Given the description of an element on the screen output the (x, y) to click on. 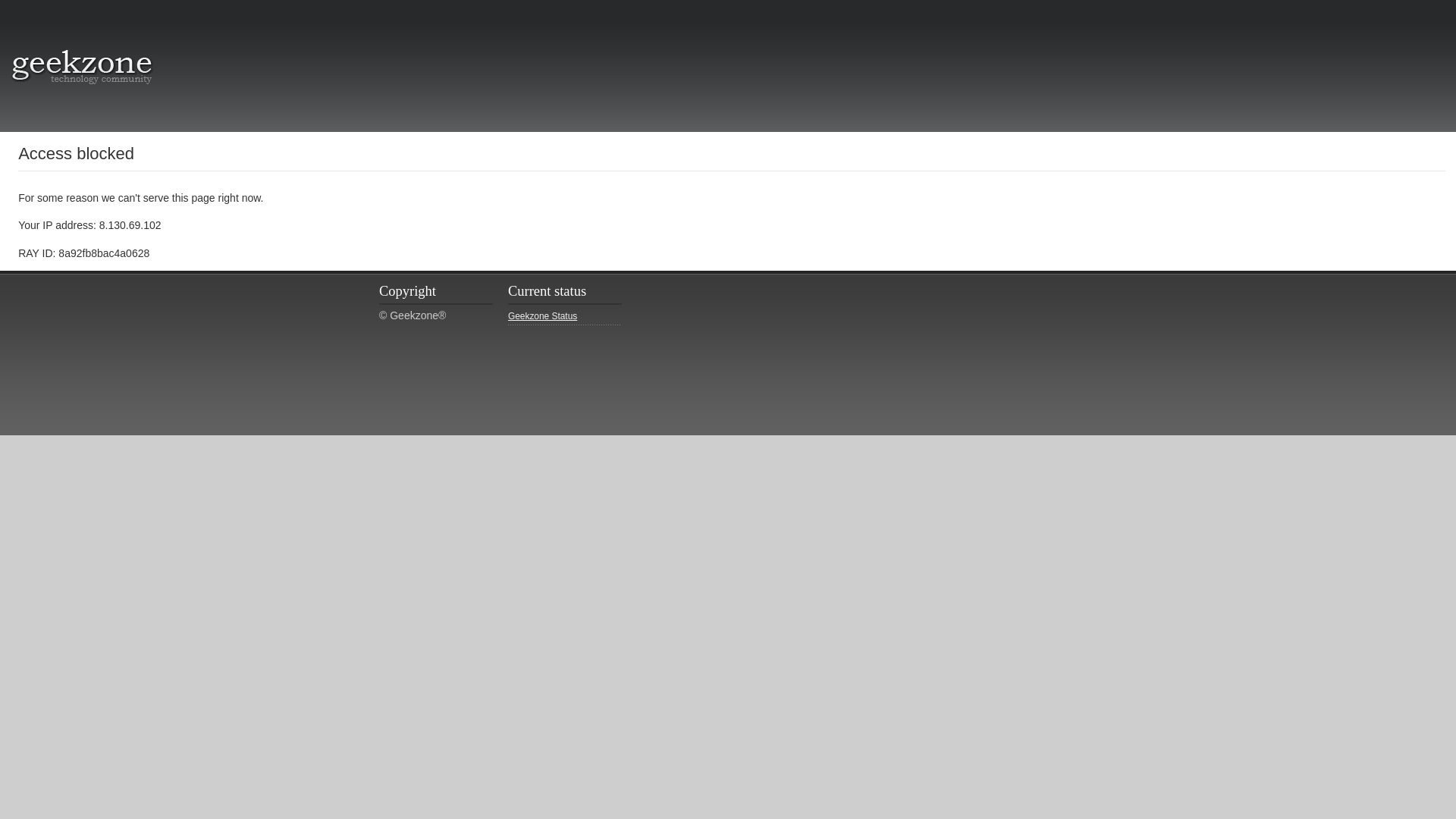
Geekzone Status (564, 316)
